Given the description of an element on the screen output the (x, y) to click on. 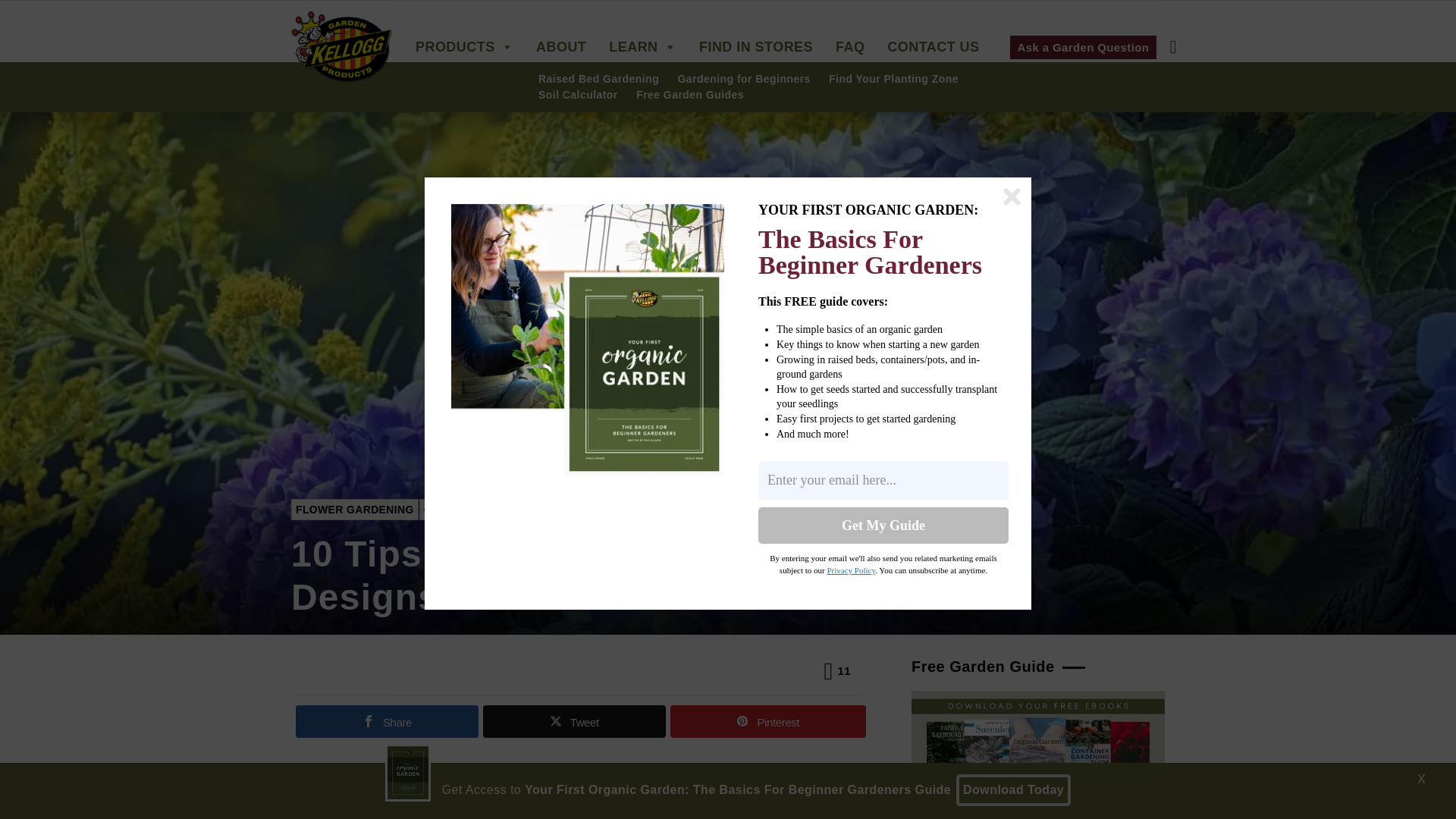
LEARN (646, 46)
PRODUCTS (467, 46)
Soil Calculator (577, 95)
Find Your Planting Zone (893, 79)
CONTACT US (936, 46)
Ask a Garden Question (1083, 46)
SEARCH (1172, 46)
Raised Bed Gardening (598, 79)
Get My Guide (883, 524)
FIND IN STORES (759, 46)
Close (1011, 196)
Gardening for Beginners (744, 79)
ABOUT (564, 46)
Free Garden Guides (690, 95)
FAQ (853, 46)
